Given the description of an element on the screen output the (x, y) to click on. 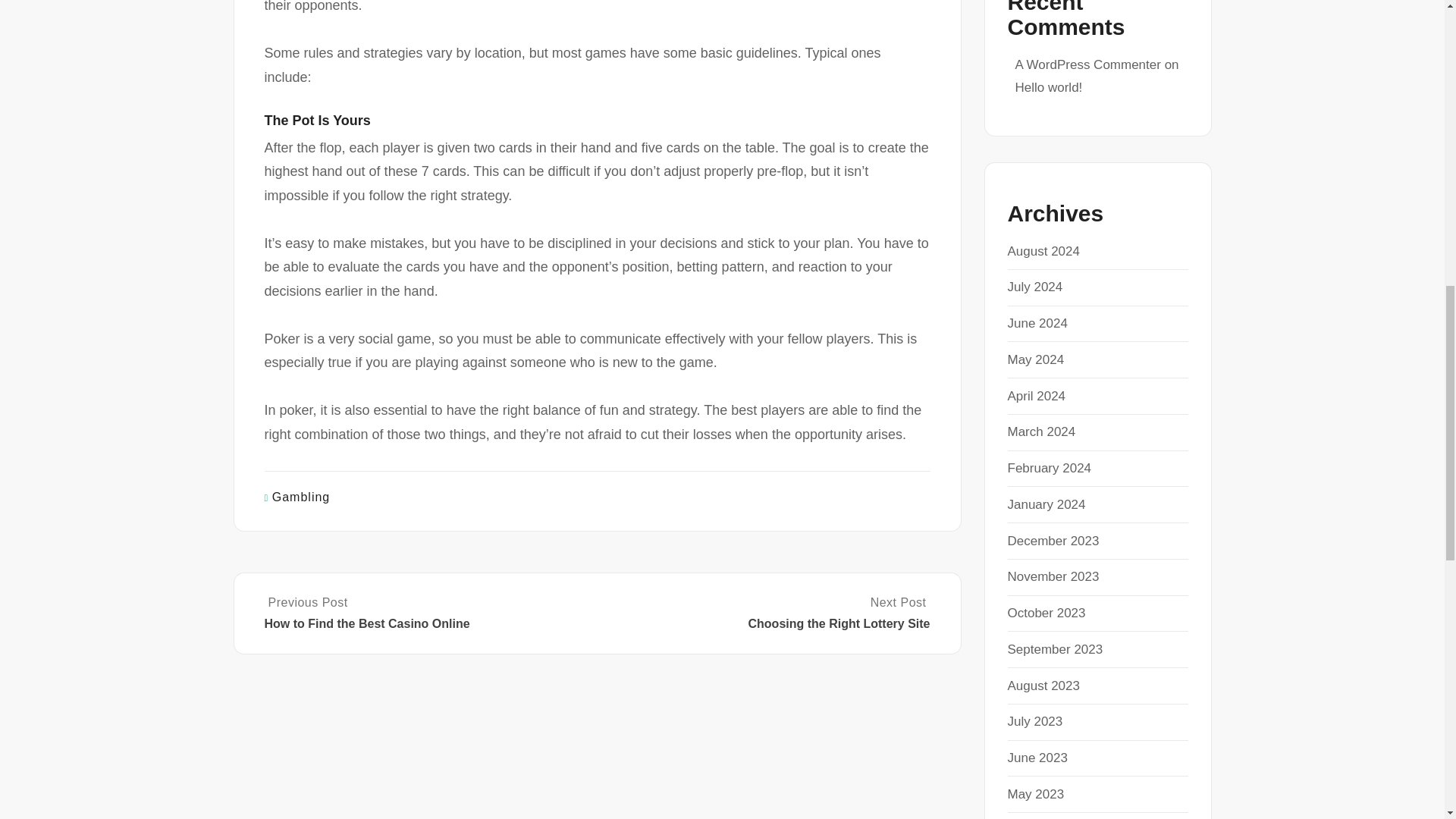
Hello world! (1047, 87)
April 2024 (1036, 396)
November 2023 (1053, 576)
May 2023 (1035, 794)
October 2023 (1045, 612)
December 2023 (1053, 540)
August 2023 (1042, 685)
Gambling (301, 496)
January 2024 (1045, 504)
